Given the description of an element on the screen output the (x, y) to click on. 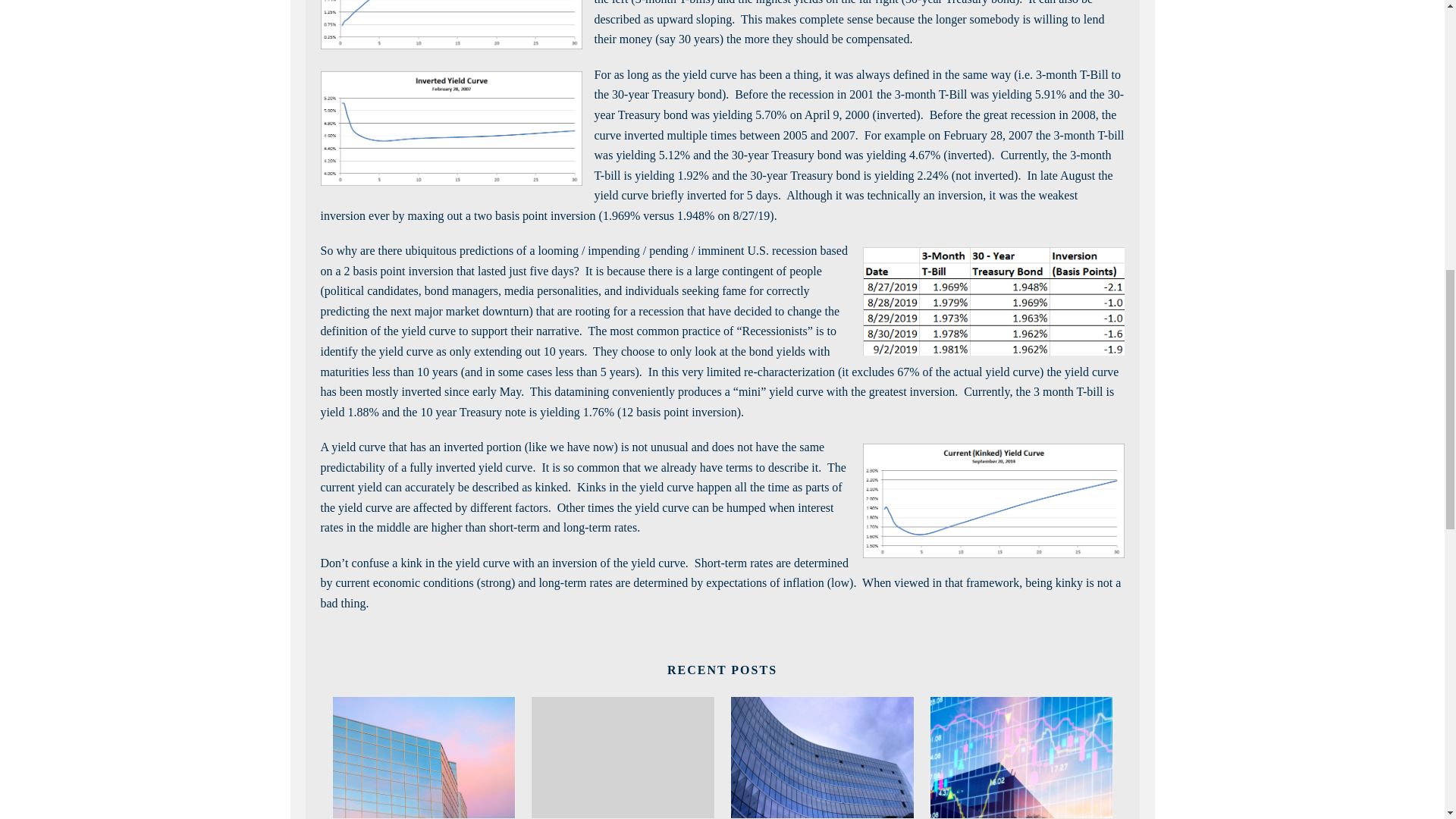
Q2 2024 Economic Perspective (423, 757)
Q3 2023 Economic Perspective (1021, 757)
Q4 2023 Economic Perspective (822, 757)
Q1 2024 Economic Perspective (622, 757)
